Given the description of an element on the screen output the (x, y) to click on. 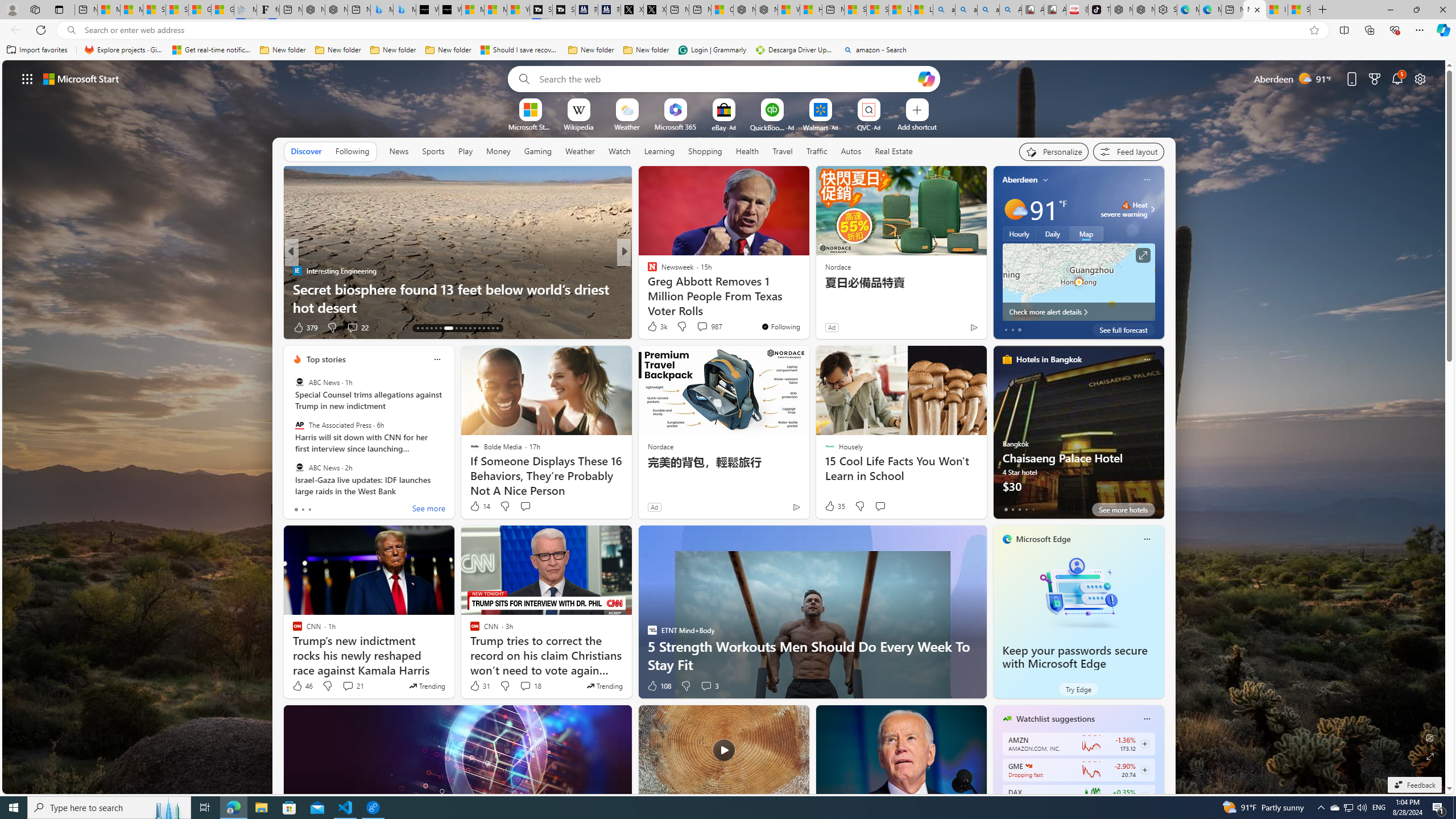
Should I save recovered Word documents? - Microsoft Support (519, 49)
You're following The Weather Channel (949, 329)
46 Like (301, 685)
New folder (646, 49)
Nordace.com (663, 288)
